Given the description of an element on the screen output the (x, y) to click on. 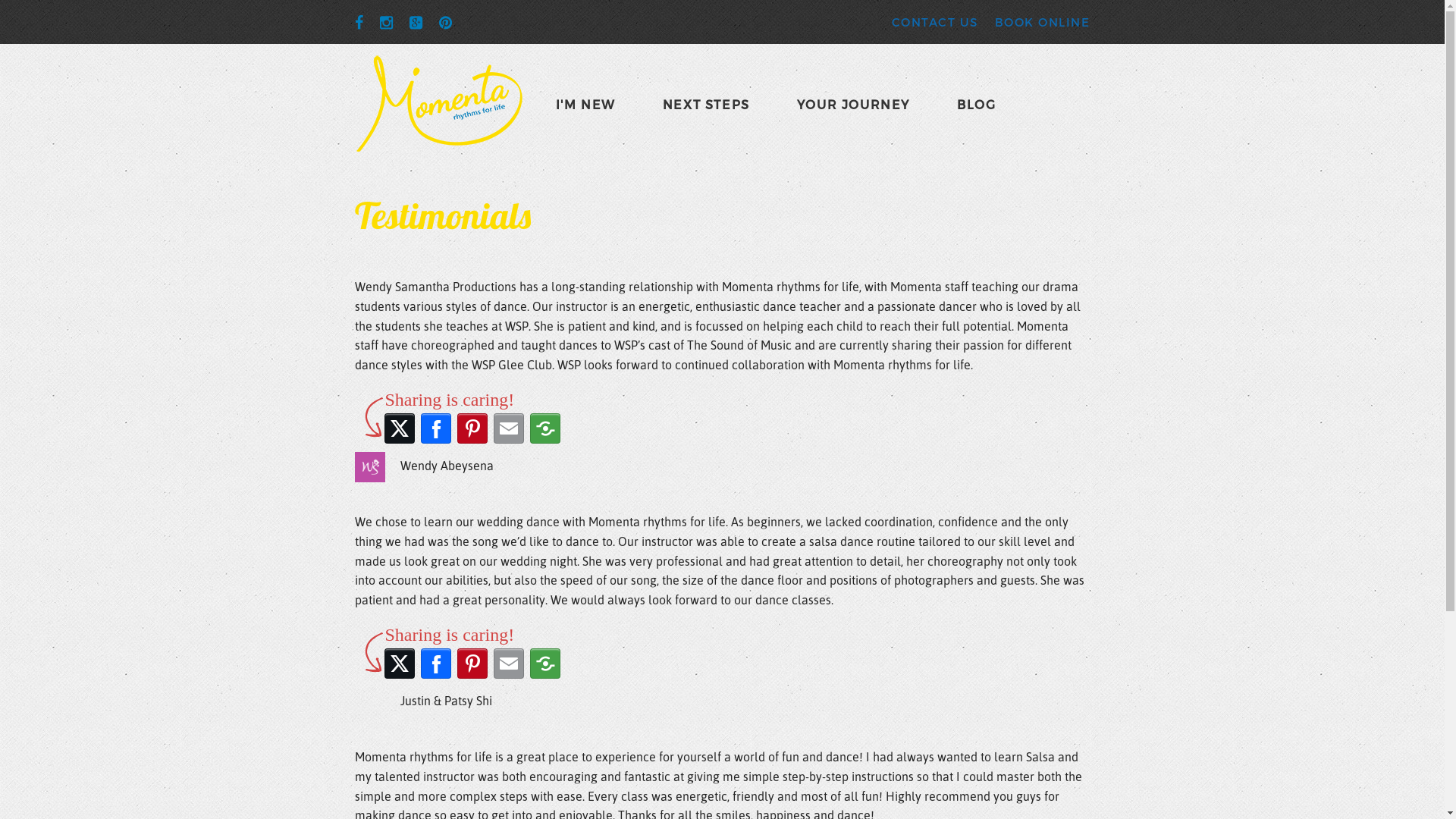
Facebook Element type: hover (435, 428)
CONTACT US Element type: text (934, 21)
X (Twitter) Element type: hover (398, 663)
Email This Element type: hover (507, 428)
Pinterest Element type: hover (471, 428)
More Options Element type: hover (544, 428)
Pinterest Element type: hover (471, 663)
X (Twitter) Element type: hover (398, 428)
BOOK ONLINE Element type: text (1042, 21)
More Options Element type: hover (544, 663)
Email This Element type: hover (507, 663)
Facebook Element type: hover (435, 663)
